Given the description of an element on the screen output the (x, y) to click on. 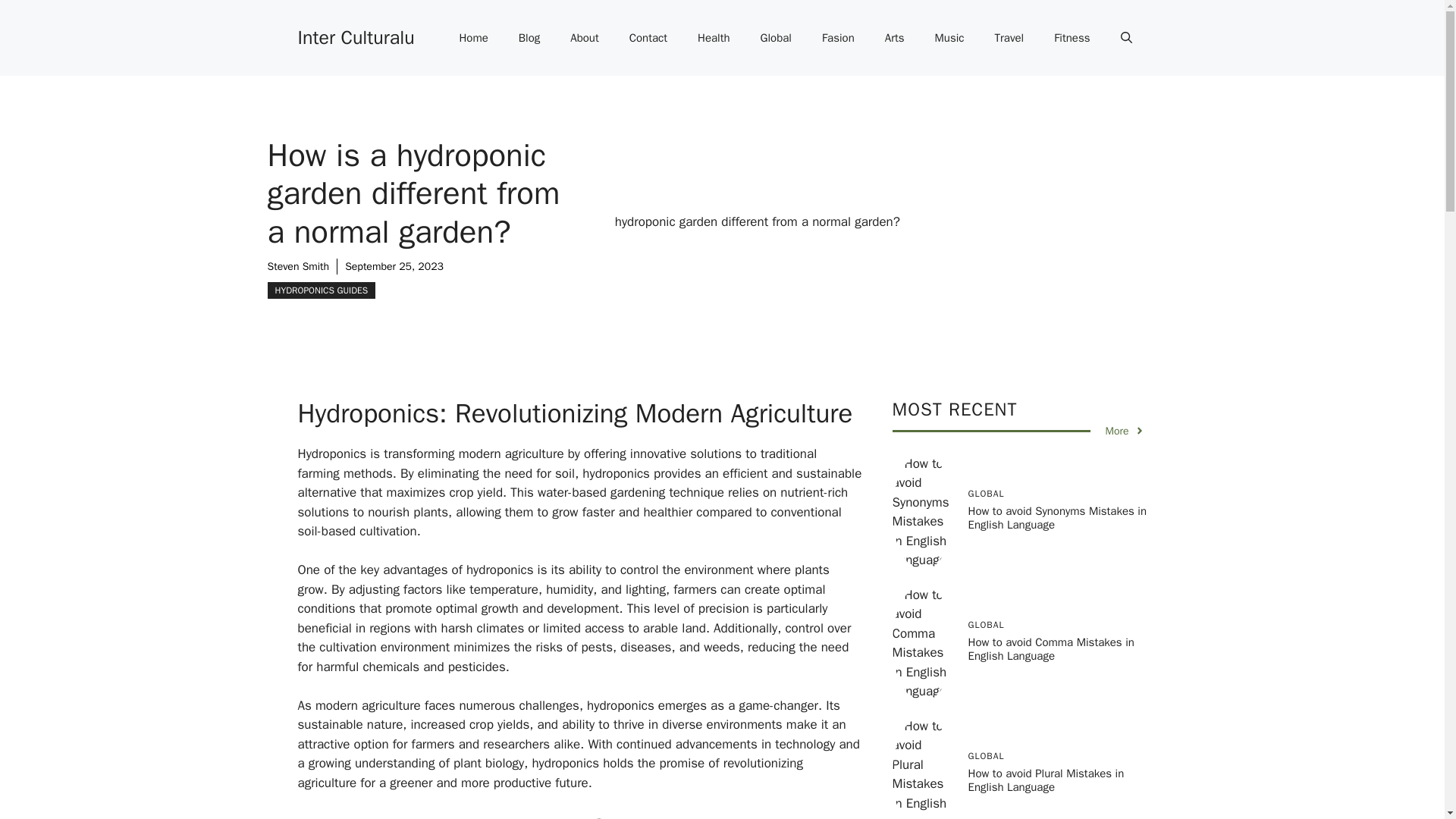
About (583, 37)
Fitness (1072, 37)
More (1124, 430)
HYDROPONICS GUIDES (320, 289)
Fasion (837, 37)
Travel (1009, 37)
Inter Culturalu (355, 37)
Arts (894, 37)
Contact (648, 37)
Global (775, 37)
Blog (528, 37)
Steven Smith (297, 266)
How to avoid Synonyms Mistakes in English Language (1057, 517)
How to avoid Plural Mistakes in English Language (1046, 779)
Health (713, 37)
